Given the description of an element on the screen output the (x, y) to click on. 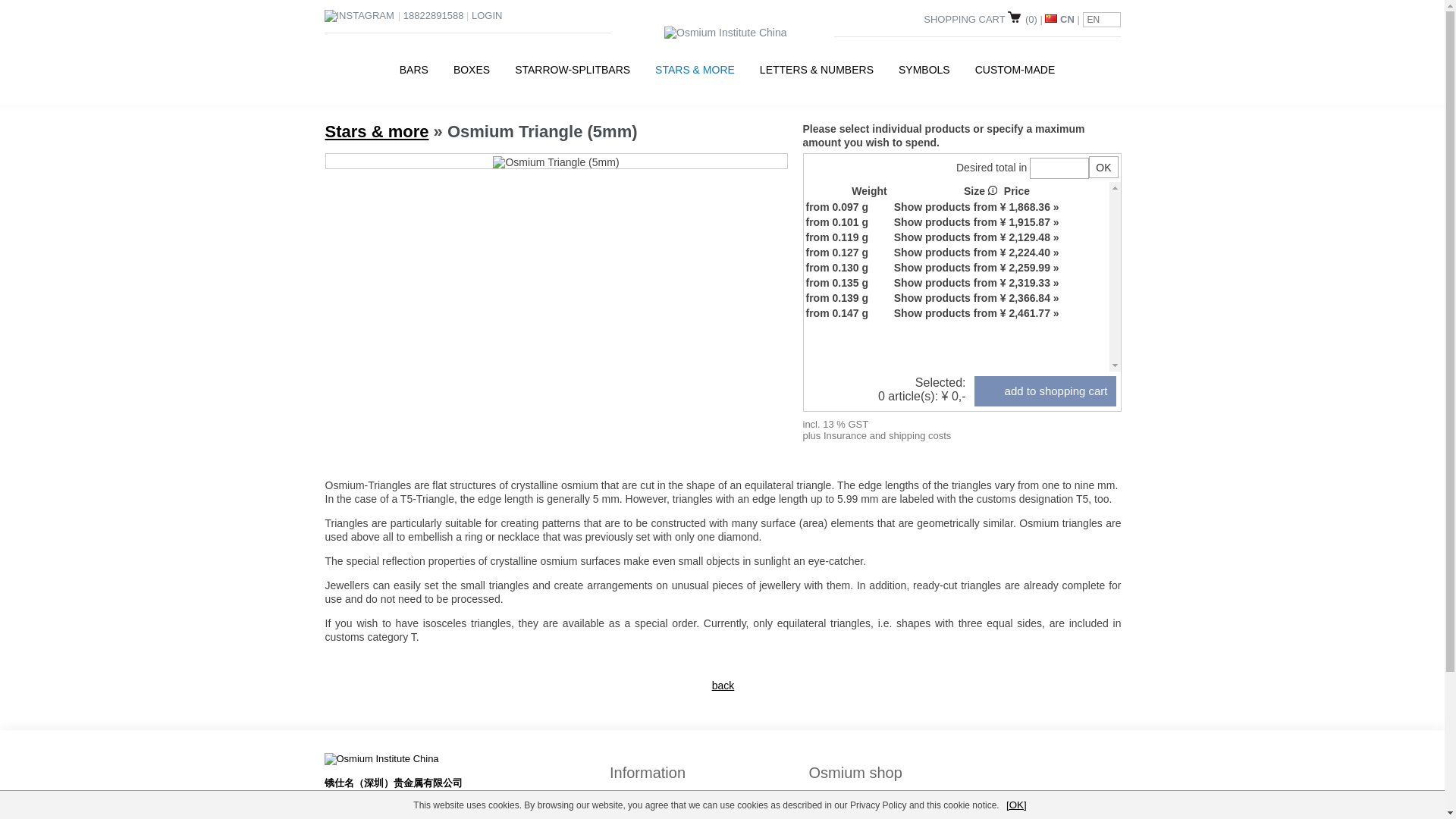
Bars (414, 69)
CN (1059, 19)
add to shopping cart (1045, 390)
BOXES (471, 69)
18822891588 (433, 15)
LOGIN (486, 15)
Osmium Institute China (725, 32)
OK (1103, 167)
STARROW-SPLITBARS (572, 69)
BARS (414, 69)
